Given the description of an element on the screen output the (x, y) to click on. 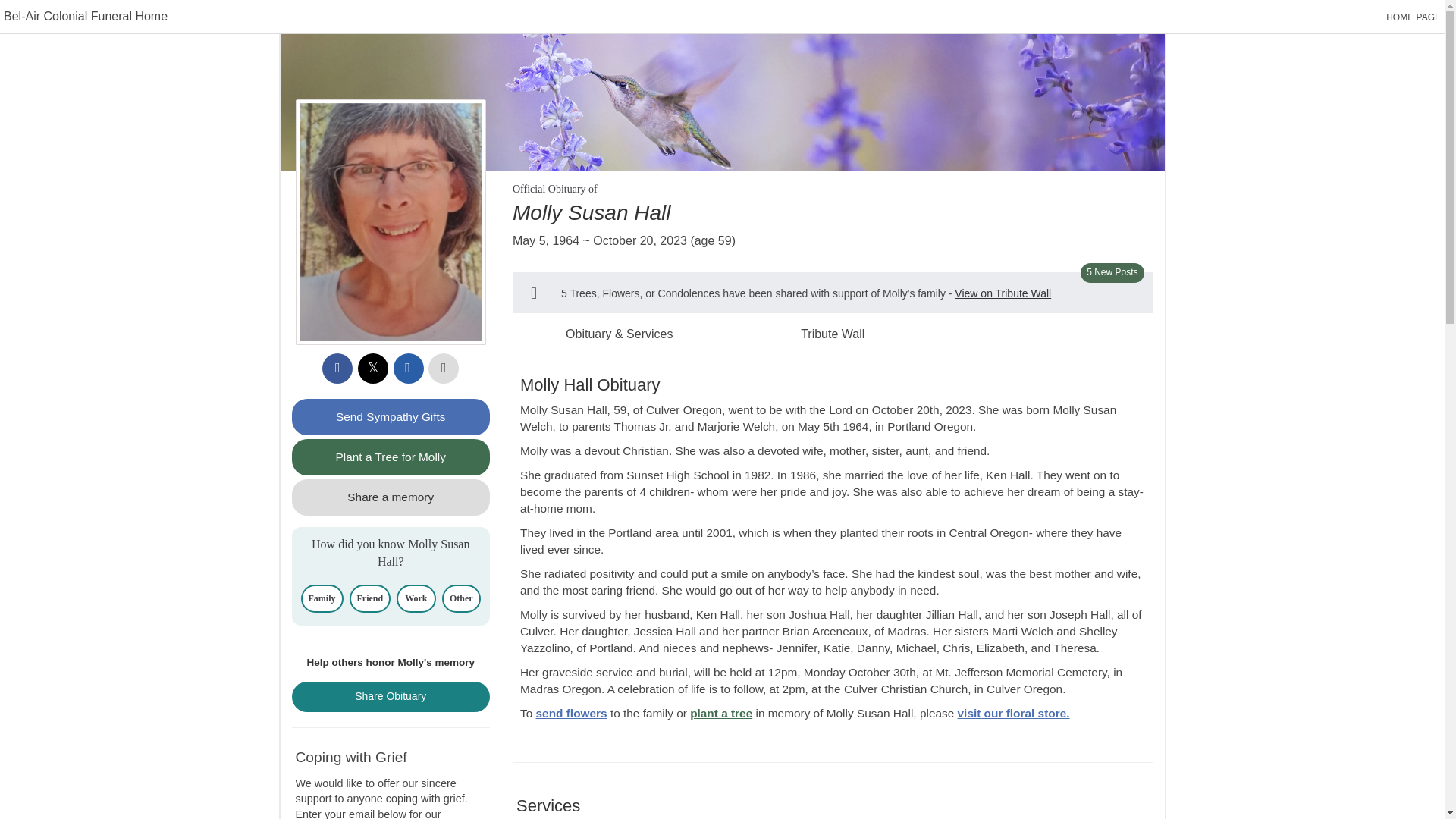
visit our floral store. (1014, 712)
Send Sympathy Gifts (390, 416)
Share via email (408, 368)
Share on X (373, 368)
HOME PAGE (1413, 17)
Share Obituary (390, 696)
plant a tree (721, 712)
View on Tribute Wall (1003, 293)
send flowers (571, 712)
Plant a Tree for Molly (390, 456)
Share to Facebook (336, 368)
Printable copy (443, 368)
Bel-Air Colonial Funeral Home (85, 15)
Share a memory (390, 497)
